Given the description of an element on the screen output the (x, y) to click on. 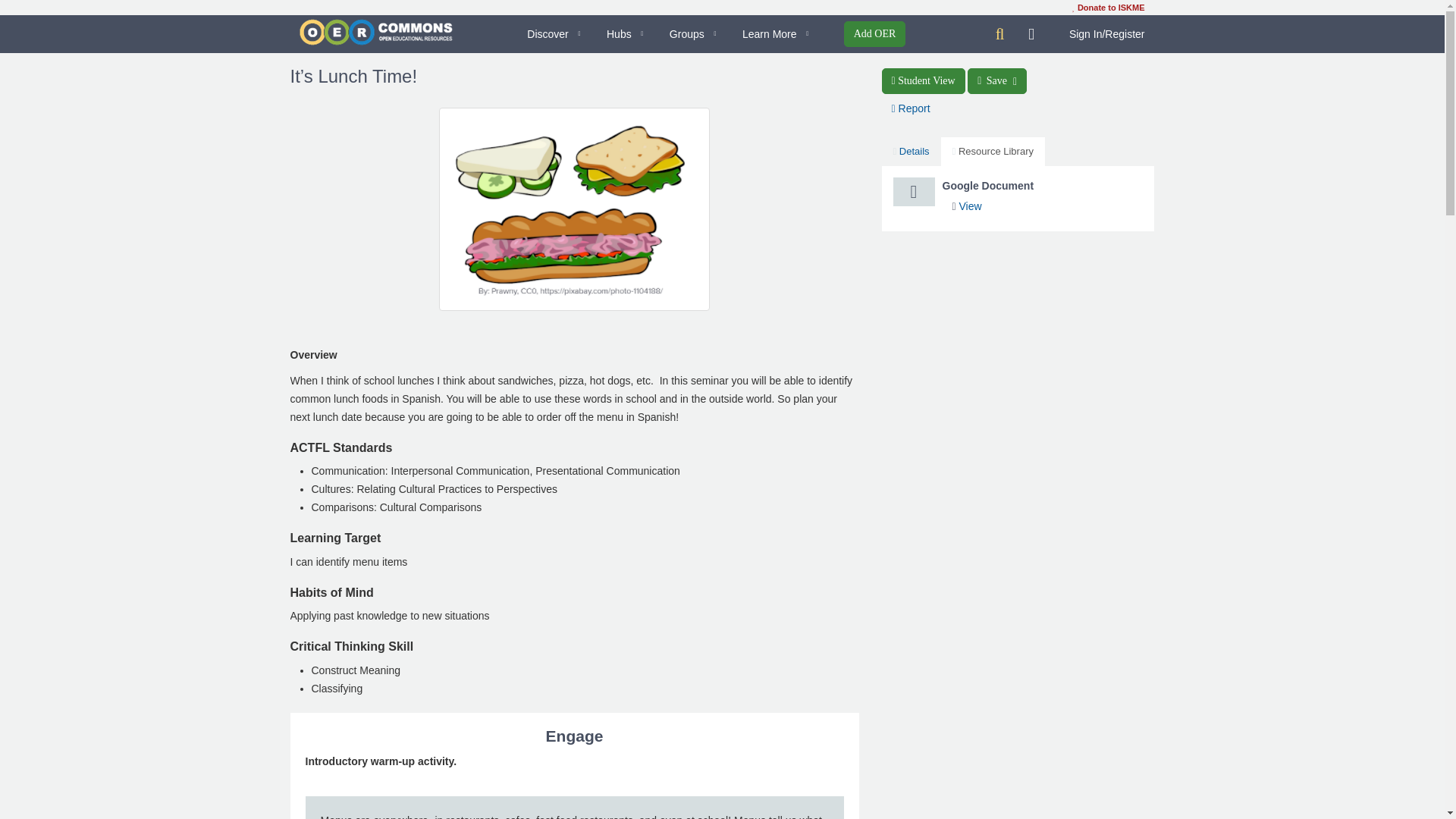
Hubs (627, 34)
Add OER (874, 33)
Groups (695, 34)
Learn More (778, 34)
Donate to ISKME (1107, 7)
Show add OER options (874, 33)
Discover (556, 34)
